Given the description of an element on the screen output the (x, y) to click on. 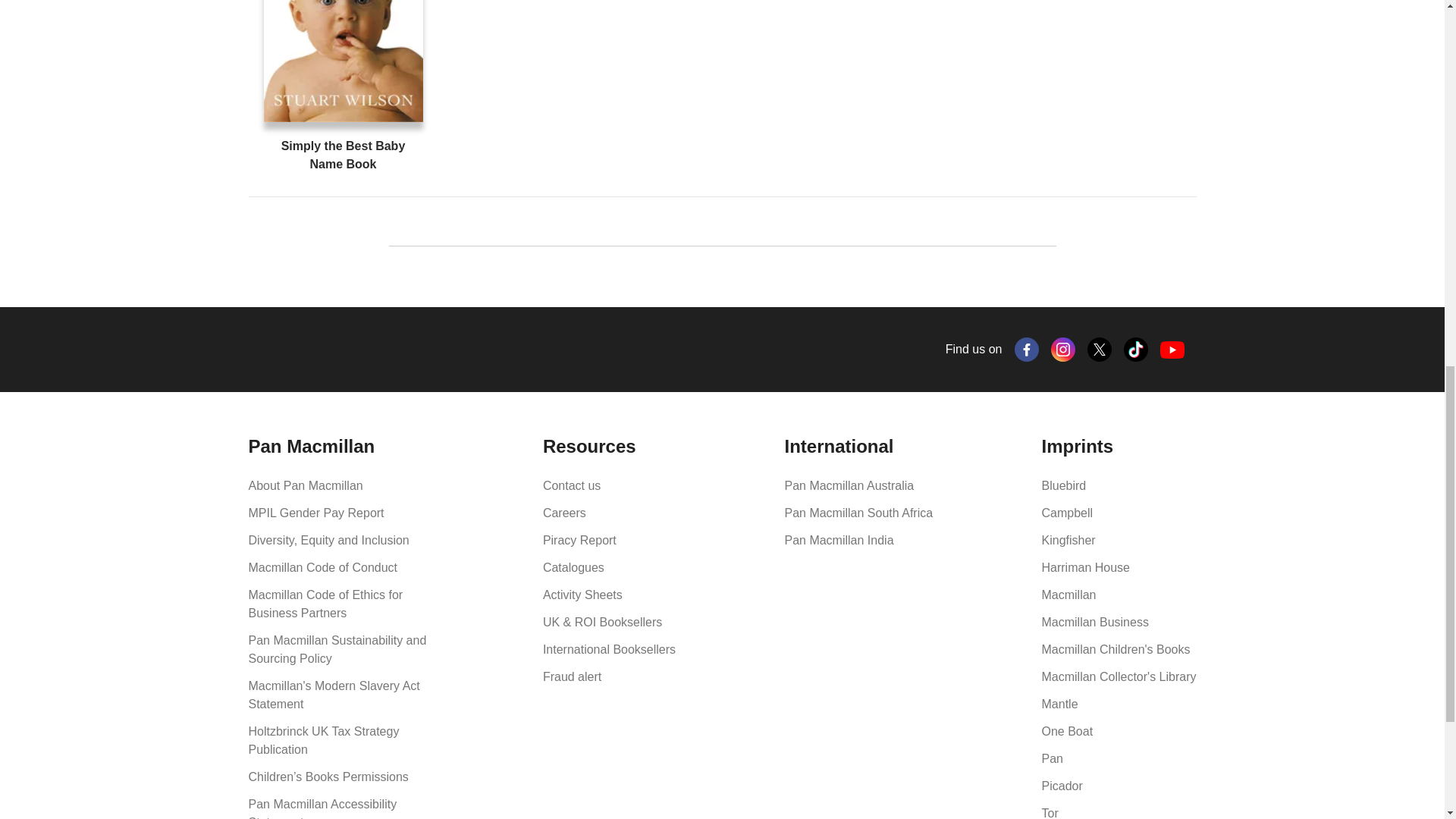
YouTube (1172, 349)
Instagram (1063, 349)
Facebook (1026, 349)
TikTok (1136, 349)
